Given the description of an element on the screen output the (x, y) to click on. 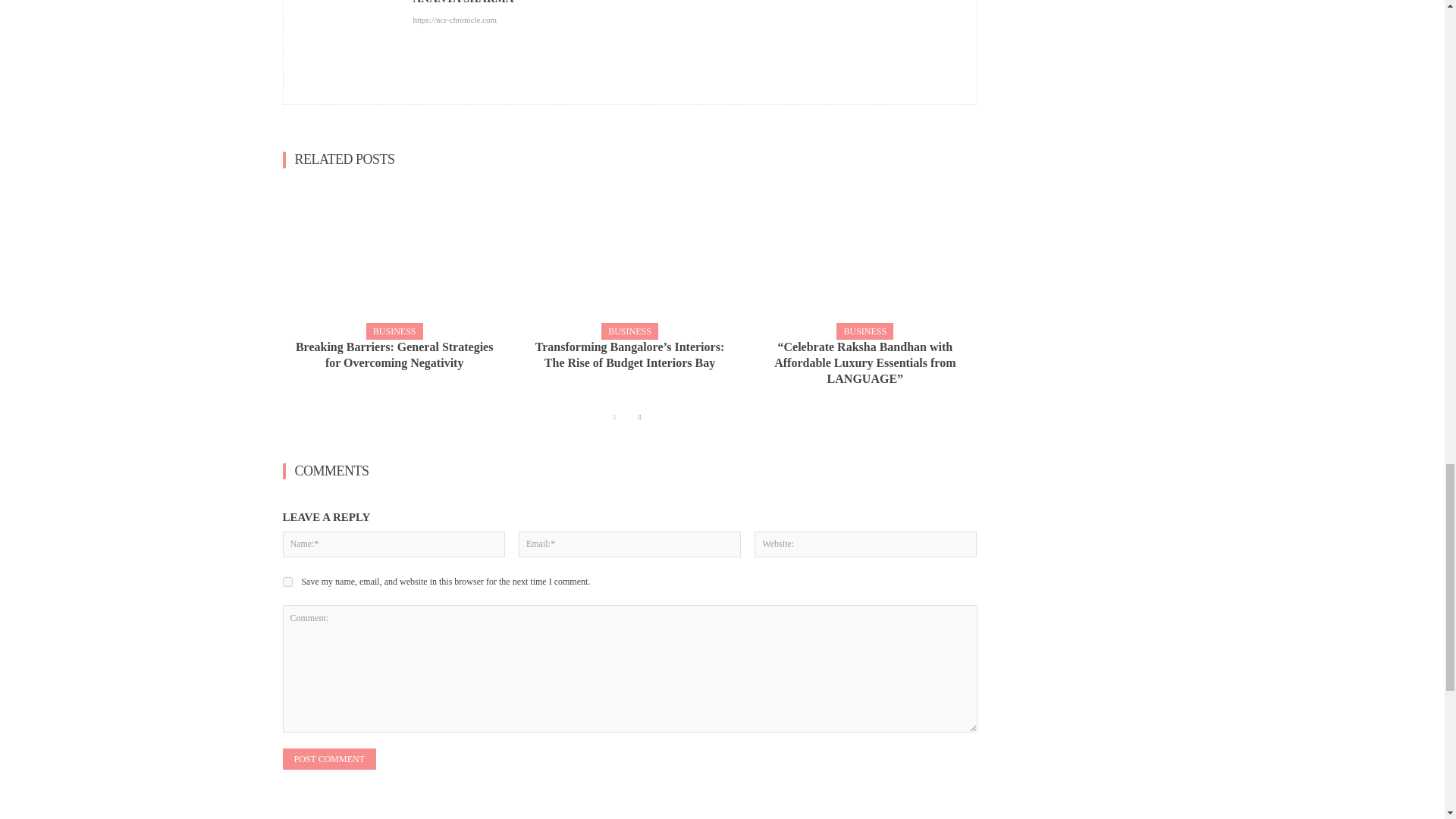
Post Comment (328, 758)
yes (287, 582)
